Given the description of an element on the screen output the (x, y) to click on. 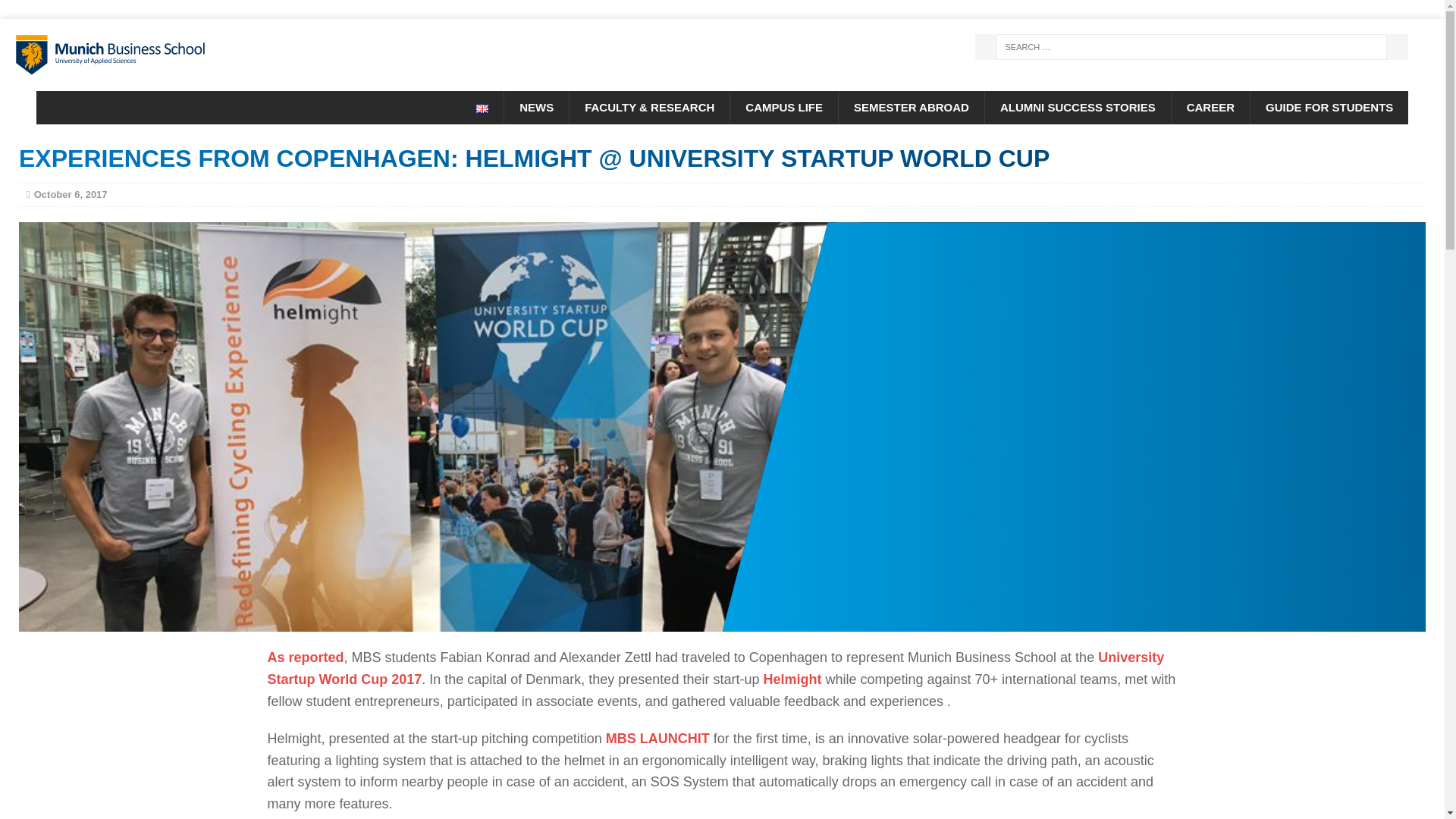
CAREER (1209, 107)
ALUMNI SUCCESS STORIES (1077, 107)
CAMPUS LIFE (783, 107)
MBS LAUNCHIT (657, 738)
GUIDE FOR STUDENTS (1328, 107)
Munich Business School Homepage (228, 54)
Helmight (791, 679)
SEMESTER ABROAD (911, 107)
University Startup World Cup 2017 (714, 668)
October 6, 2017 (70, 194)
As reported (304, 657)
NEWS (536, 107)
